Given the description of an element on the screen output the (x, y) to click on. 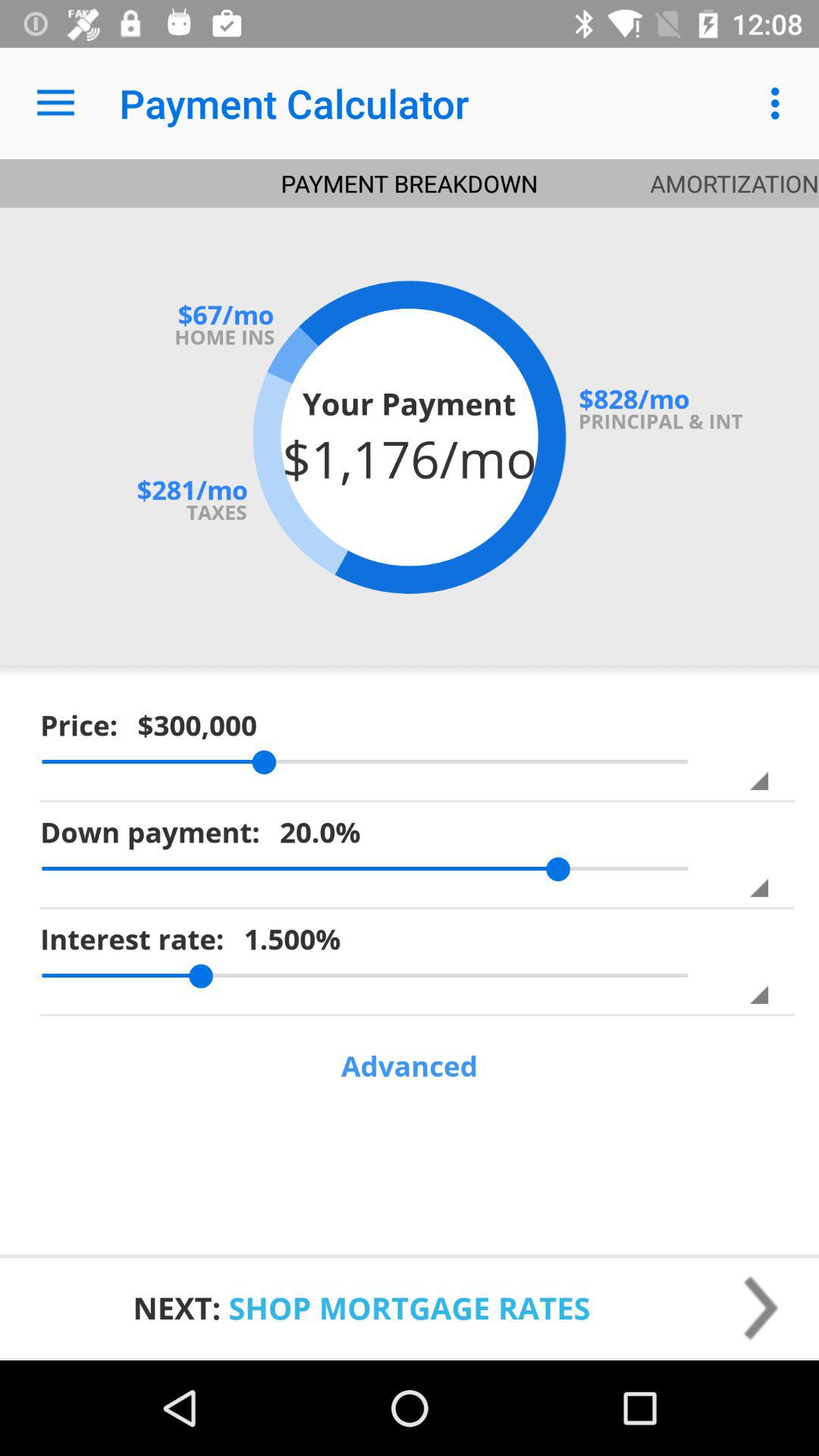
turn on the app to the right of the payment calculator (779, 103)
